Given the description of an element on the screen output the (x, y) to click on. 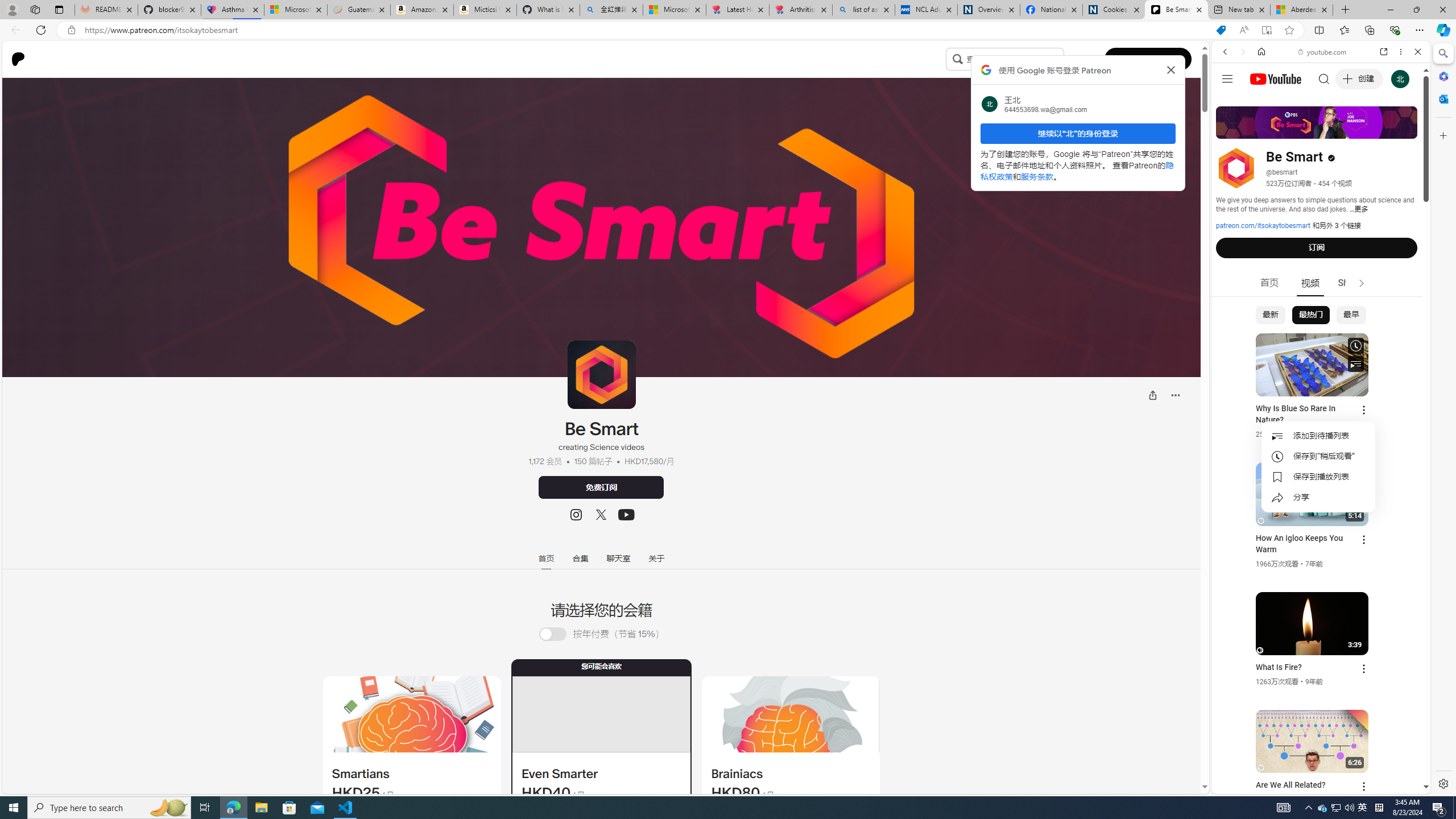
Patreon logo (17, 59)
Go to home page (22, 59)
